Given the description of an element on the screen output the (x, y) to click on. 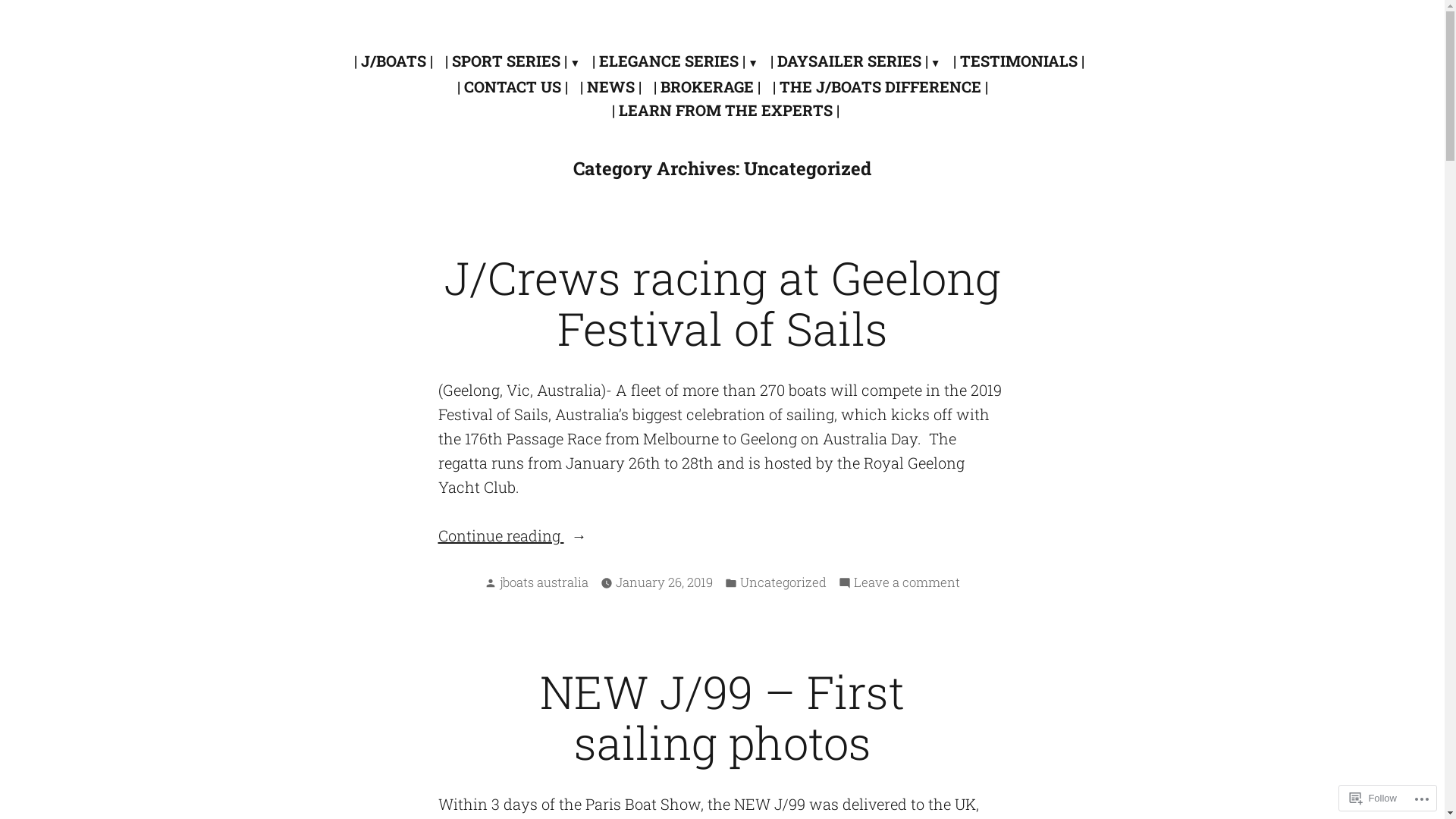
Follow Element type: text (1372, 797)
Uncategorized Element type: text (783, 582)
| J/BOATS | Element type: text (396, 61)
| THE J/BOATS DIFFERENCE | Element type: text (879, 85)
| DAYSAILER SERIES | Element type: text (855, 61)
| BROKERAGE | Element type: text (706, 85)
jboats australia Element type: text (543, 582)
| CONTACT US | Element type: text (511, 85)
| LEARN FROM THE EXPERTS | Element type: text (721, 109)
Leave a comment Element type: text (906, 582)
| NEWS | Element type: text (609, 85)
| ELEGANCE SERIES | Element type: text (675, 61)
J/Crews racing at Geelong Festival of Sails Element type: text (722, 302)
J/BOATS AUSTRALIA Element type: text (435, 45)
| SPORT SERIES | Element type: text (512, 61)
Continue reading Element type: text (722, 535)
January 26, 2019 Element type: text (663, 582)
| TESTIMONIALS | Element type: text (1018, 61)
